Given the description of an element on the screen output the (x, y) to click on. 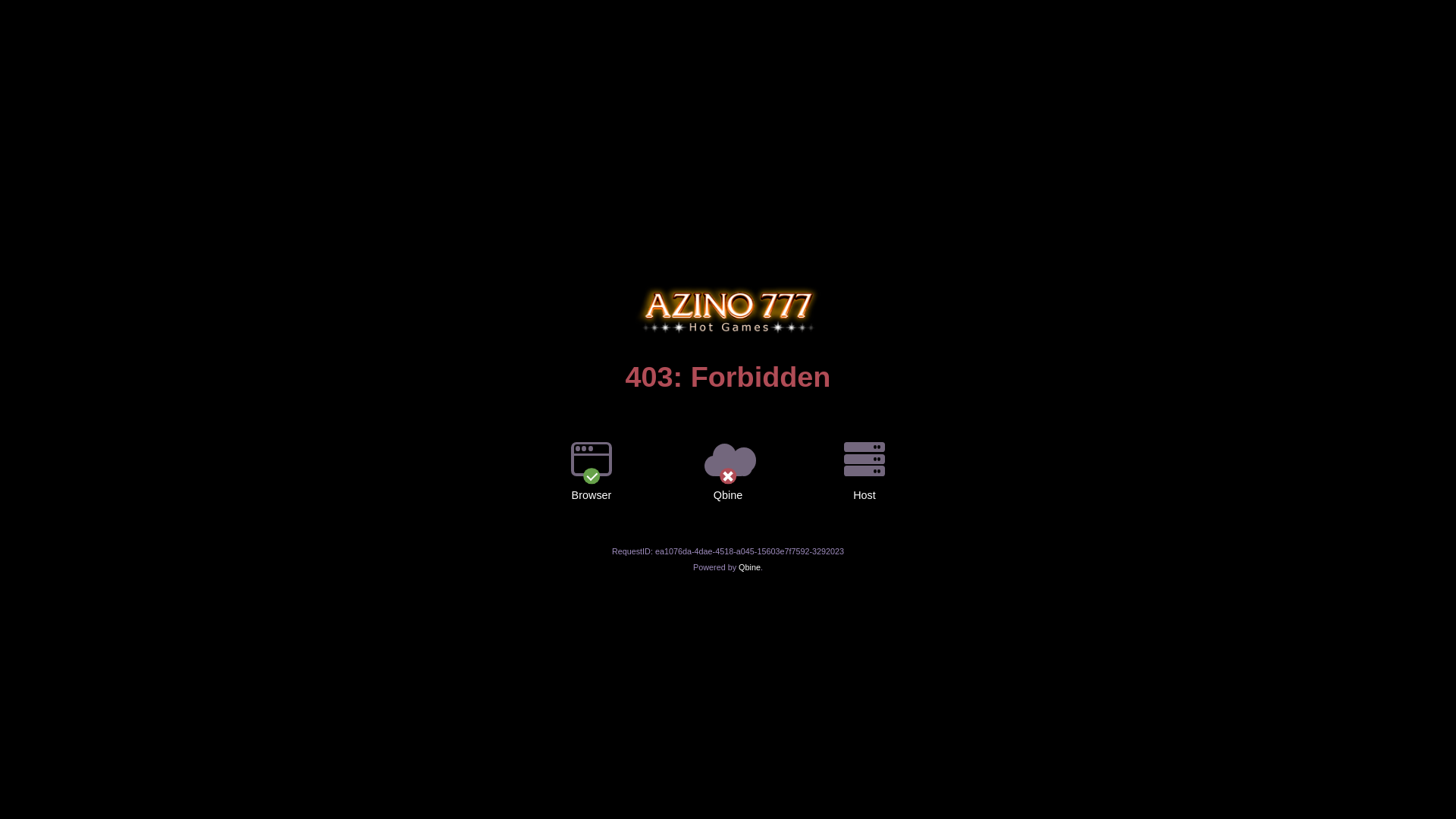
Qbine Element type: text (749, 566)
  Element type: text (727, 285)
